Given the description of an element on the screen output the (x, y) to click on. 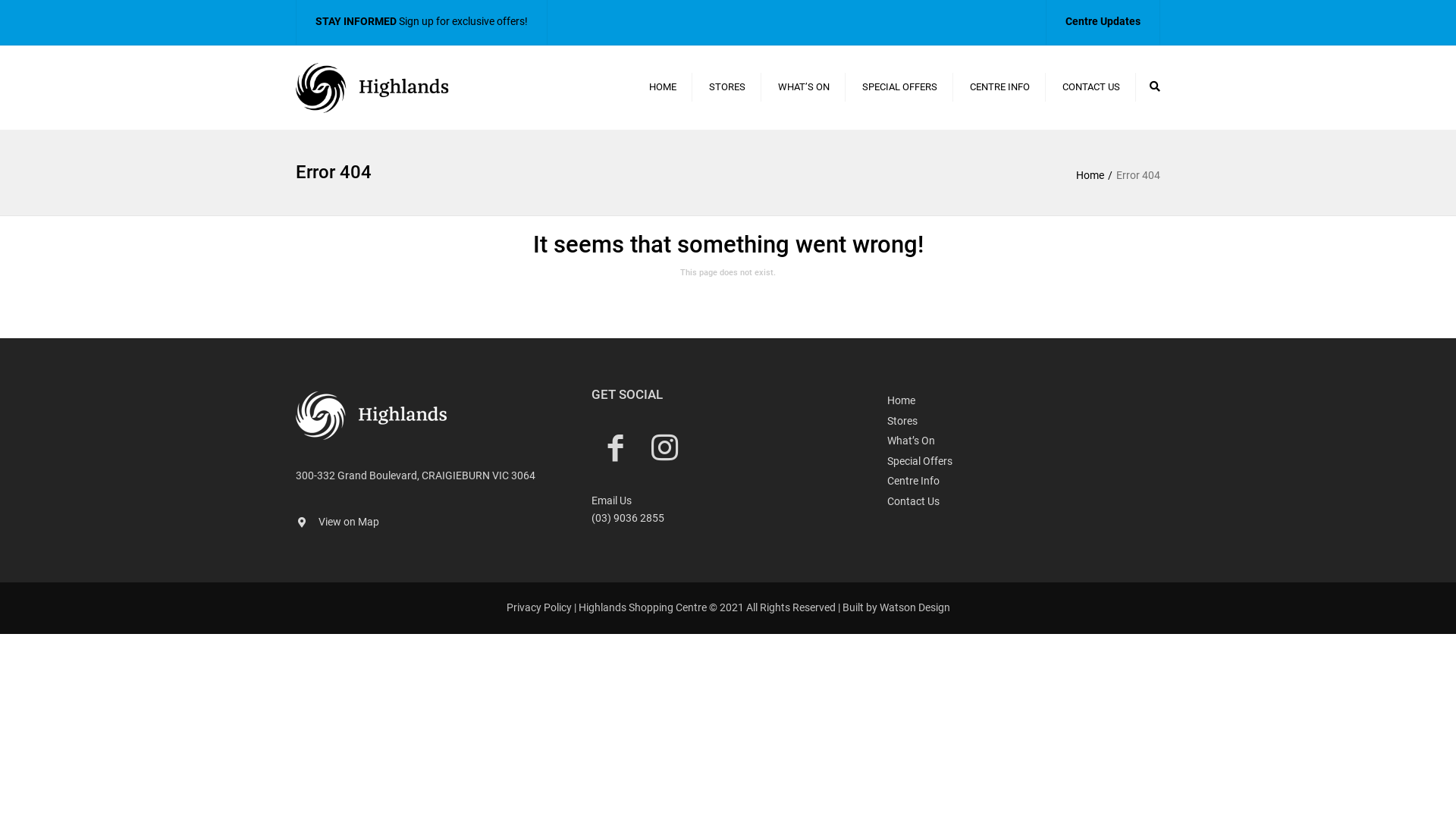
STAY INFORMED Sign up for exclusive offers! Element type: text (421, 21)
Contact Us Element type: text (1023, 501)
Home Element type: text (1023, 400)
CONTACT US Element type: text (1090, 87)
STORES Element type: text (727, 87)
Special Offers Element type: text (1023, 461)
Stores Element type: text (1023, 421)
View on Map Element type: text (348, 521)
SPECIAL OFFERS Element type: text (899, 87)
Centre Updates Element type: text (1102, 21)
Built by Watson Design Element type: text (895, 607)
Home Element type: text (1096, 175)
CENTRE INFO Element type: text (999, 87)
Email Us Element type: text (611, 500)
Centre Info Element type: text (1023, 480)
Search Element type: text (1154, 86)
Privacy Policy Element type: text (538, 607)
HOME Element type: text (662, 87)
